Given the description of an element on the screen output the (x, y) to click on. 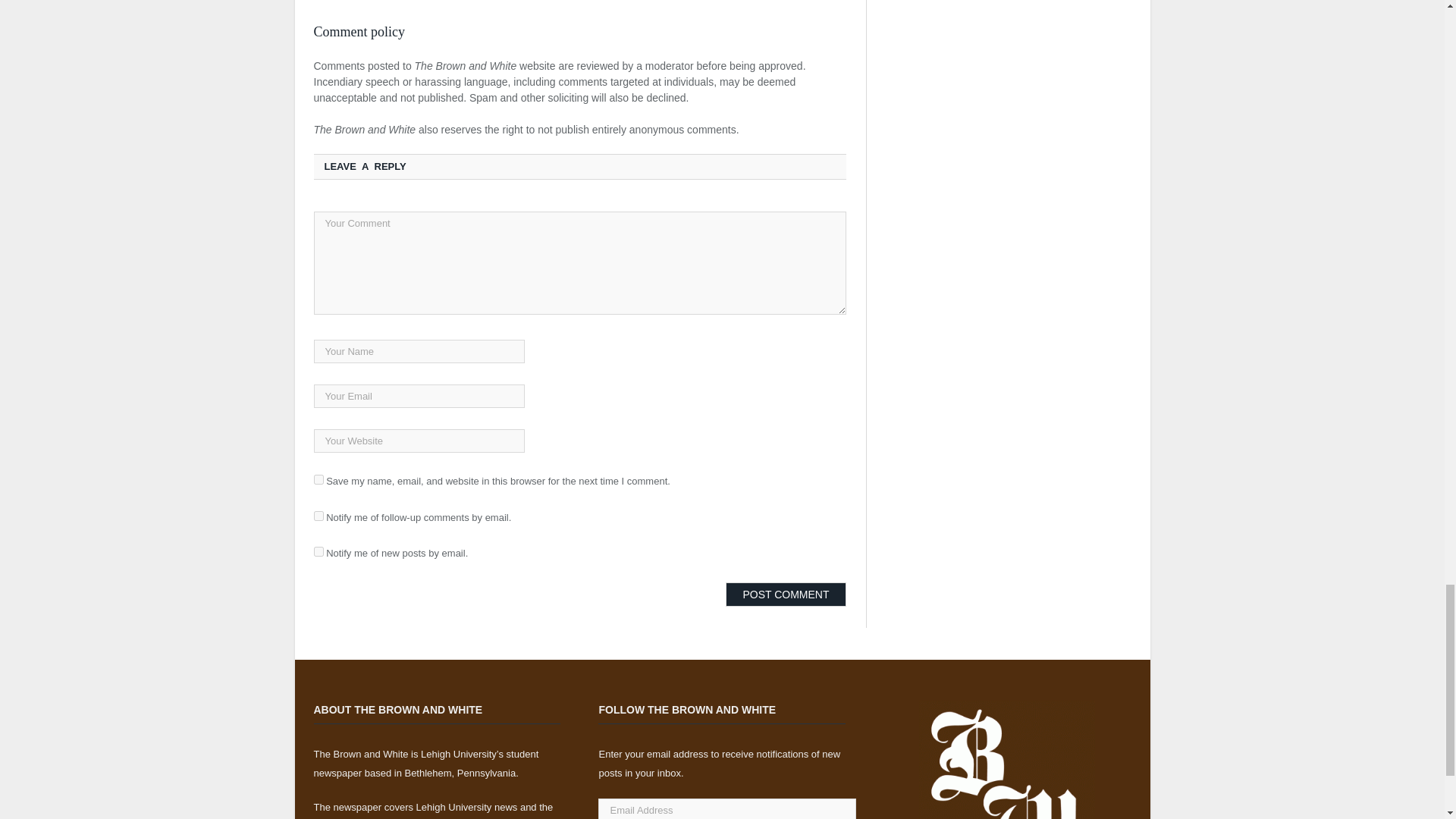
yes (318, 479)
subscribe (318, 551)
Post Comment (785, 594)
subscribe (318, 515)
